Given the description of an element on the screen output the (x, y) to click on. 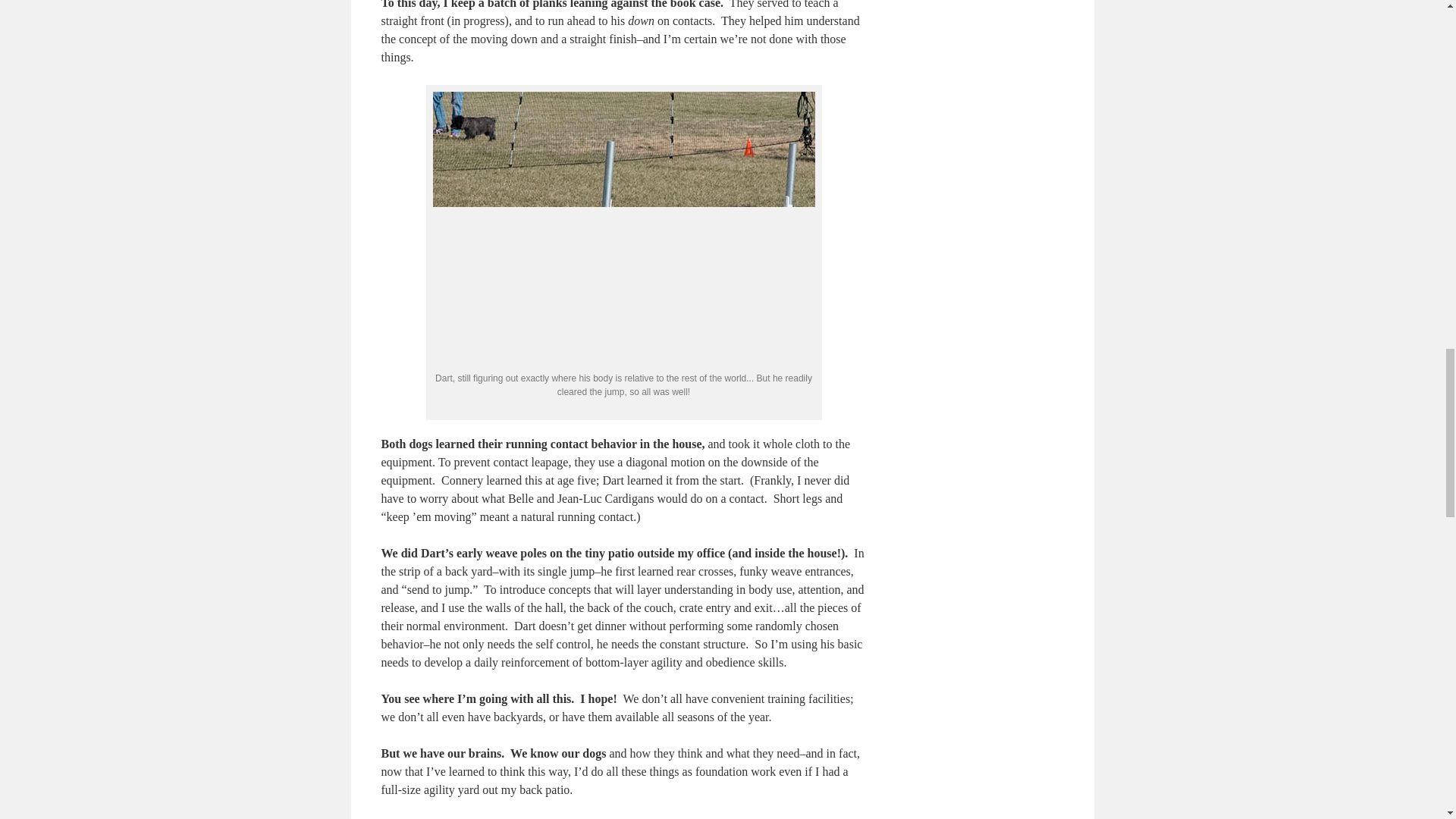
Dart (622, 227)
